Given the description of an element on the screen output the (x, y) to click on. 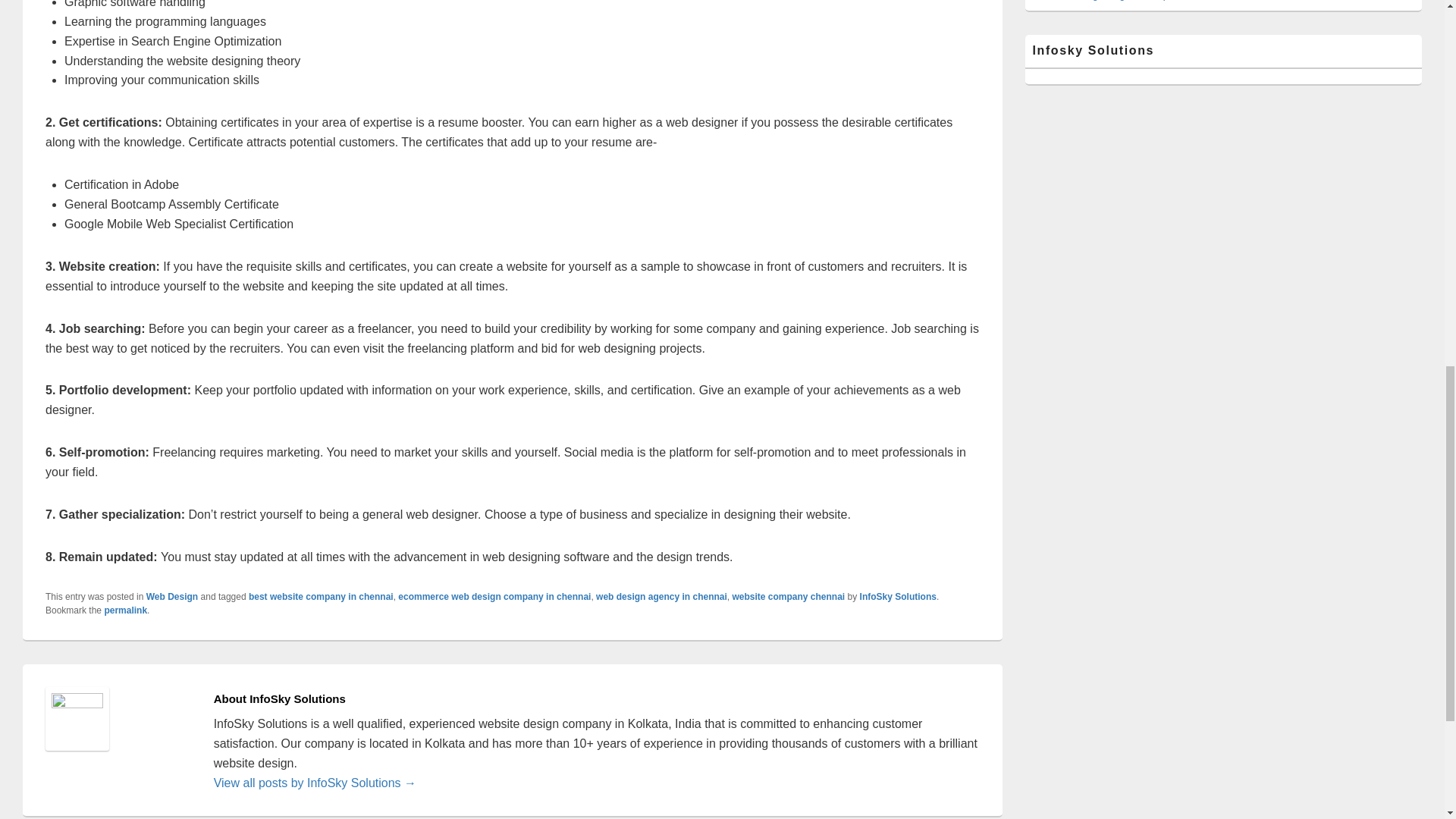
Permalink to 8 Easy Steps to Becoming the Best Web Designer (125, 610)
